Given the description of an element on the screen output the (x, y) to click on. 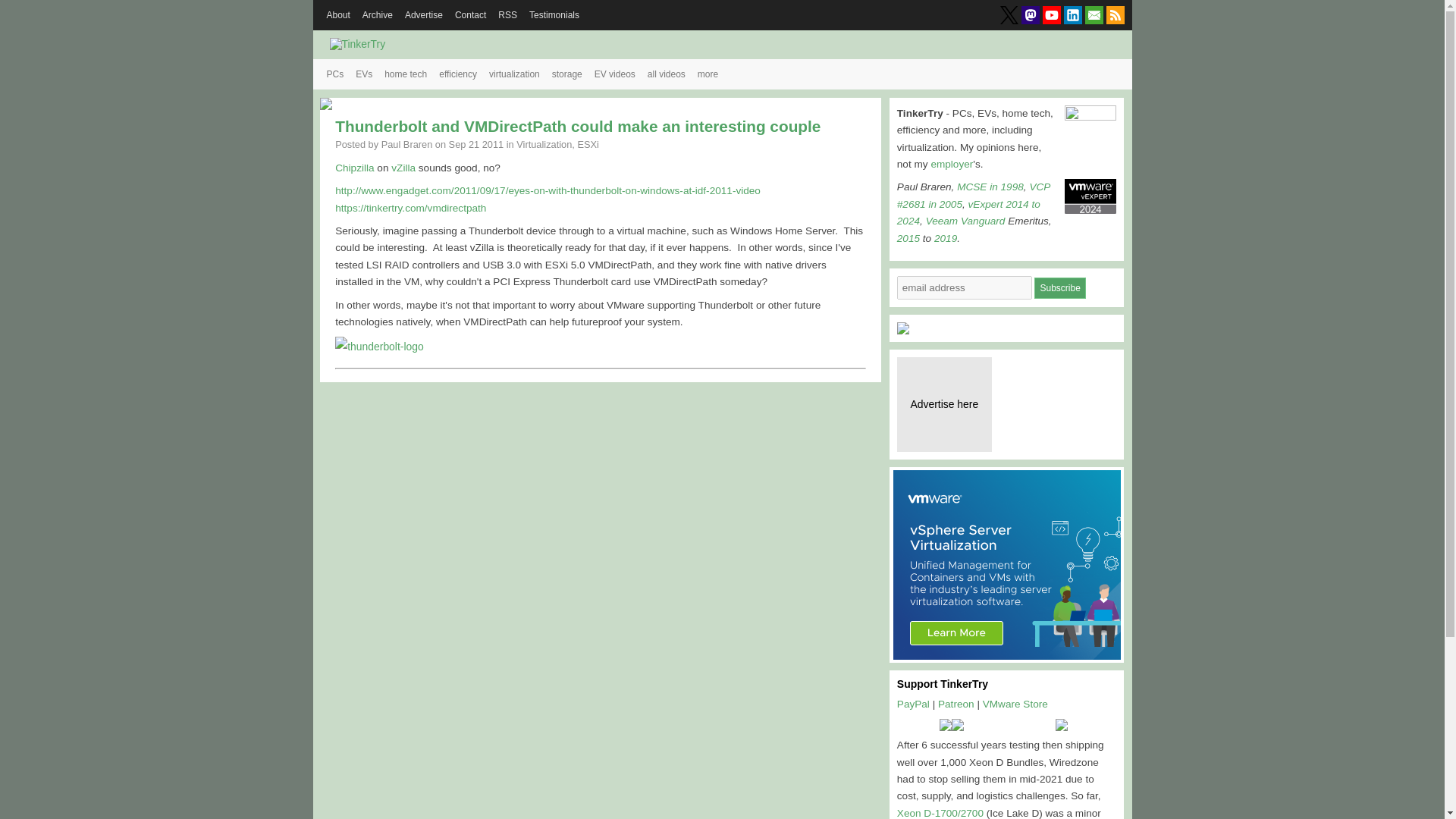
Paul Braren (406, 143)
storage (566, 73)
all videos (666, 73)
Archive (377, 15)
Chipzilla (354, 167)
efficiency (458, 73)
Contact (470, 15)
home tech (405, 73)
vZilla (402, 167)
Advertise (423, 15)
ESXi (587, 143)
Testimonials (554, 15)
Virtualization (544, 143)
EV videos (614, 73)
virtualization (514, 73)
